Given the description of an element on the screen output the (x, y) to click on. 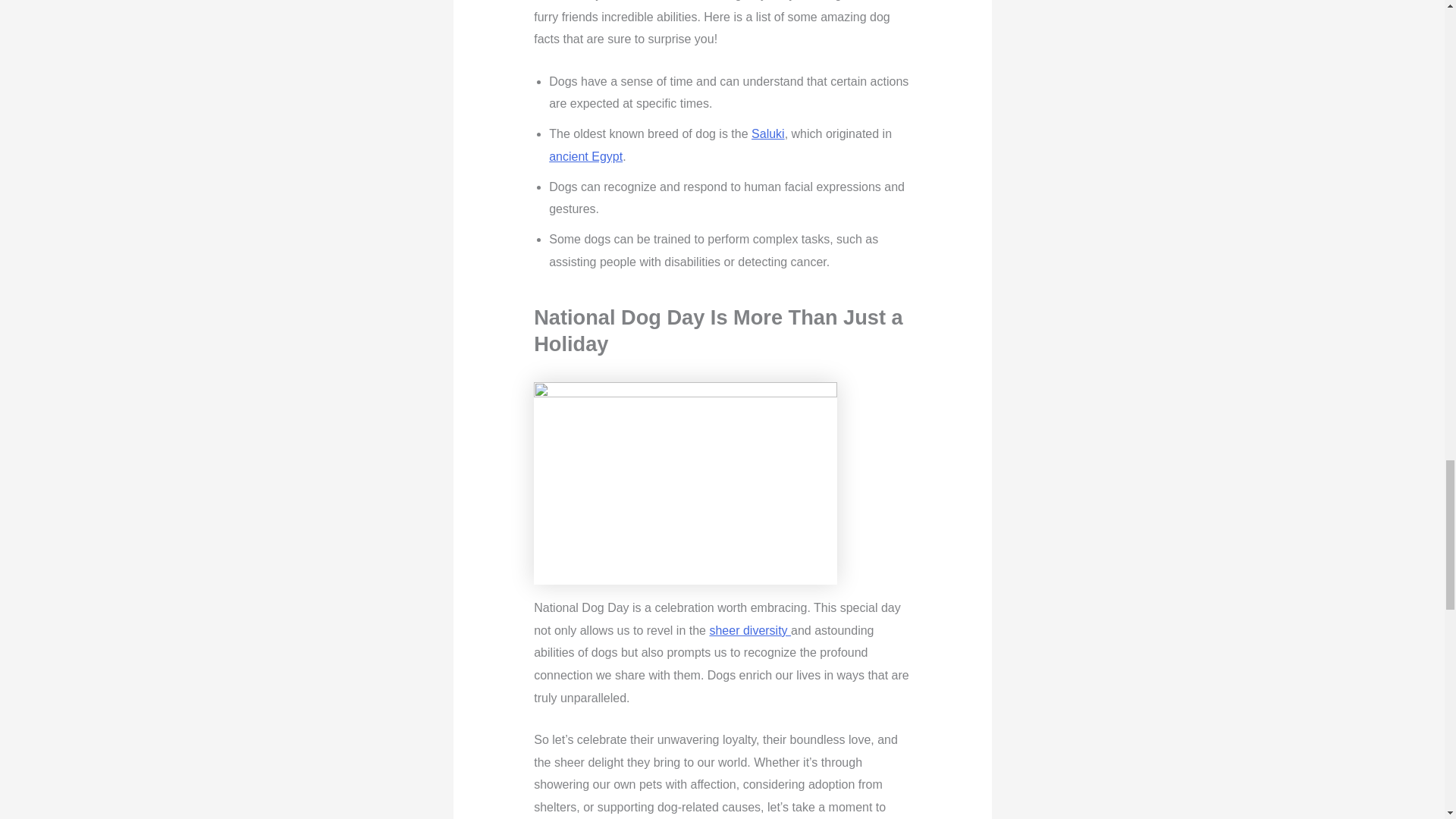
sheer diversity (749, 630)
ancient Egypt (585, 155)
Saluki (767, 133)
